Given the description of an element on the screen output the (x, y) to click on. 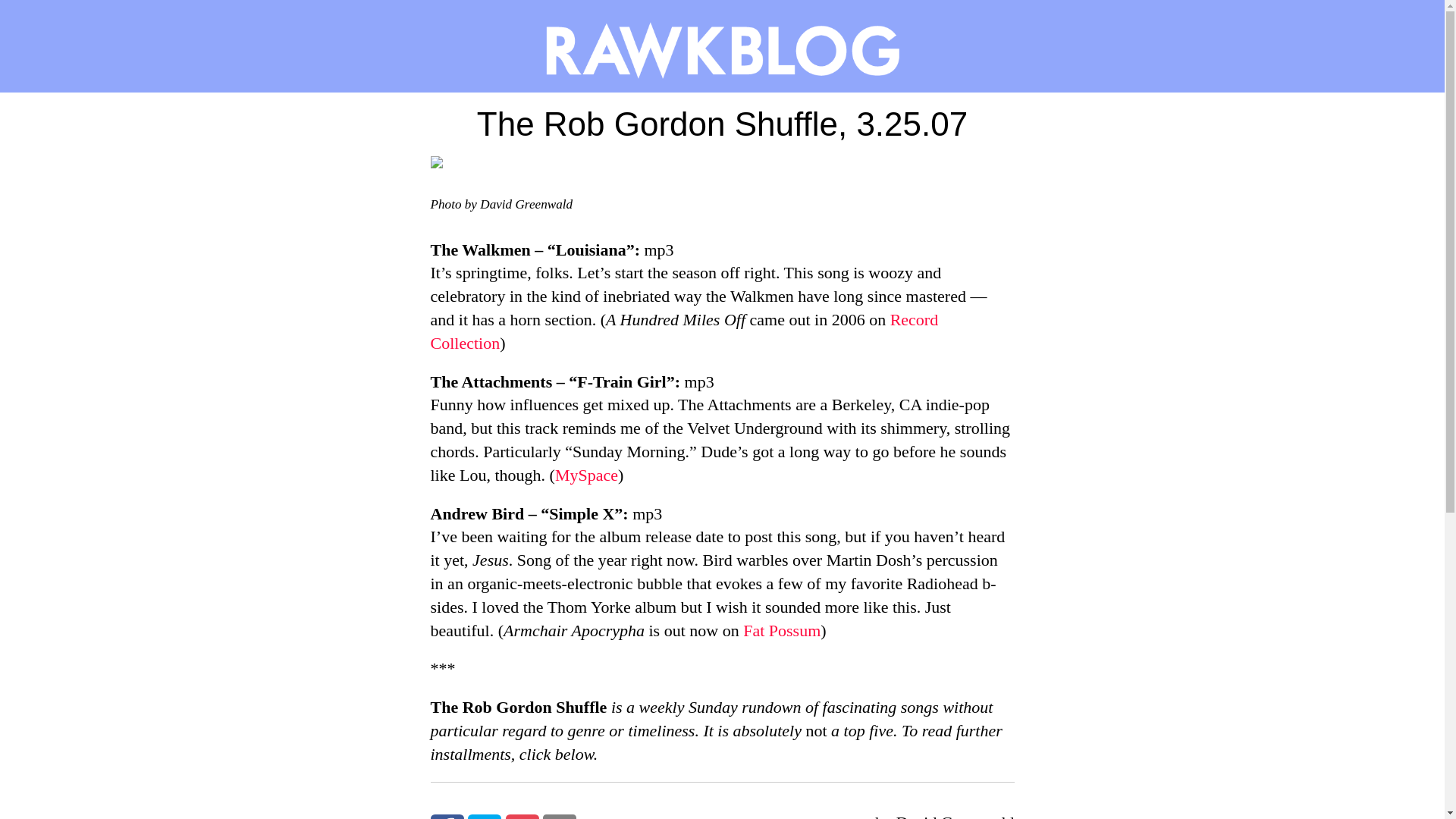
MySpace (585, 475)
Share on Twitter (483, 816)
Save to Pocket (521, 816)
Rawkblog (721, 46)
Email to a friend (559, 816)
Fat Possum (781, 629)
Record Collection (684, 331)
The Rob Gordon Shuffle, 3.25.07 (722, 129)
Share on Facebook (447, 816)
